Given the description of an element on the screen output the (x, y) to click on. 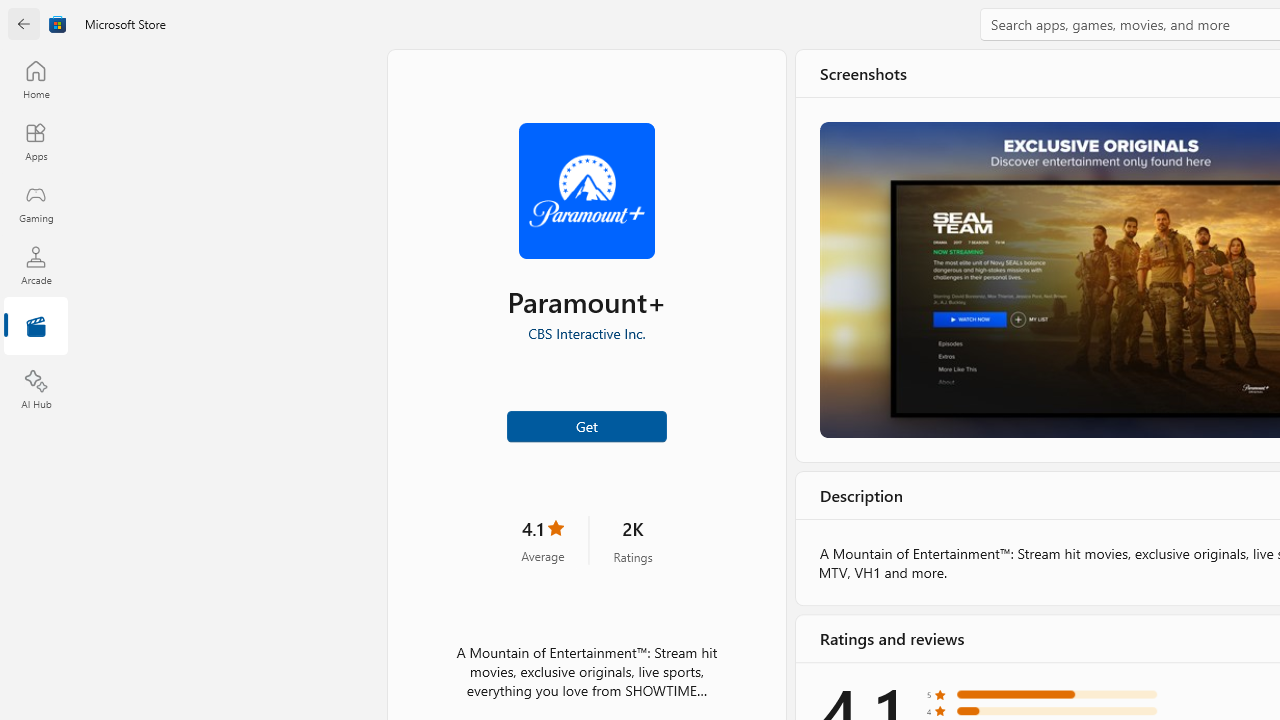
Arcade (35, 265)
Back (24, 24)
Gaming (35, 203)
Home (35, 79)
Get (586, 424)
Apps (35, 141)
Entertainment (35, 327)
AI Hub (35, 390)
CBS Interactive Inc. (586, 333)
4.1 stars. Click to skip to ratings and reviews (542, 539)
Class: Image (58, 24)
